Given the description of an element on the screen output the (x, y) to click on. 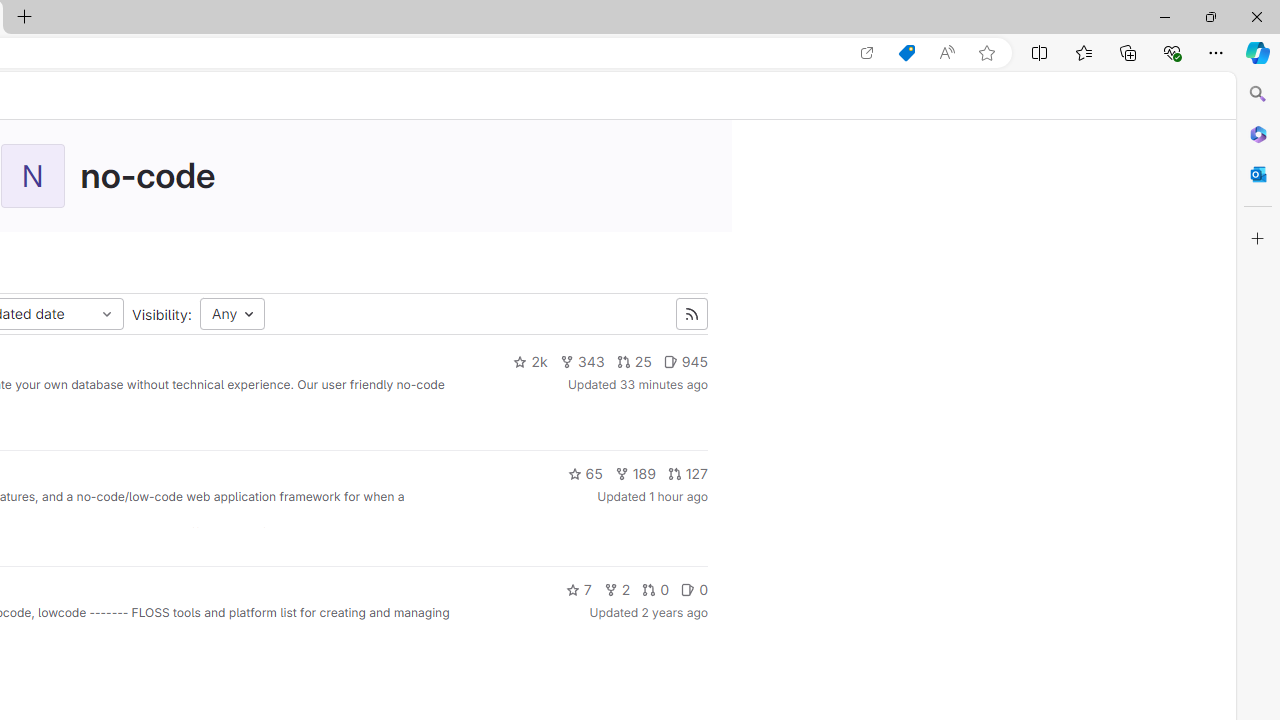
Any (232, 314)
25 (633, 361)
Subscribe to the new projects feed (691, 314)
https://dev.tiki.org/Where-To-Commit (264, 532)
945 (685, 361)
Class: s14 gl-mr-2 (688, 588)
343 (582, 361)
2k (530, 361)
